Given the description of an element on the screen output the (x, y) to click on. 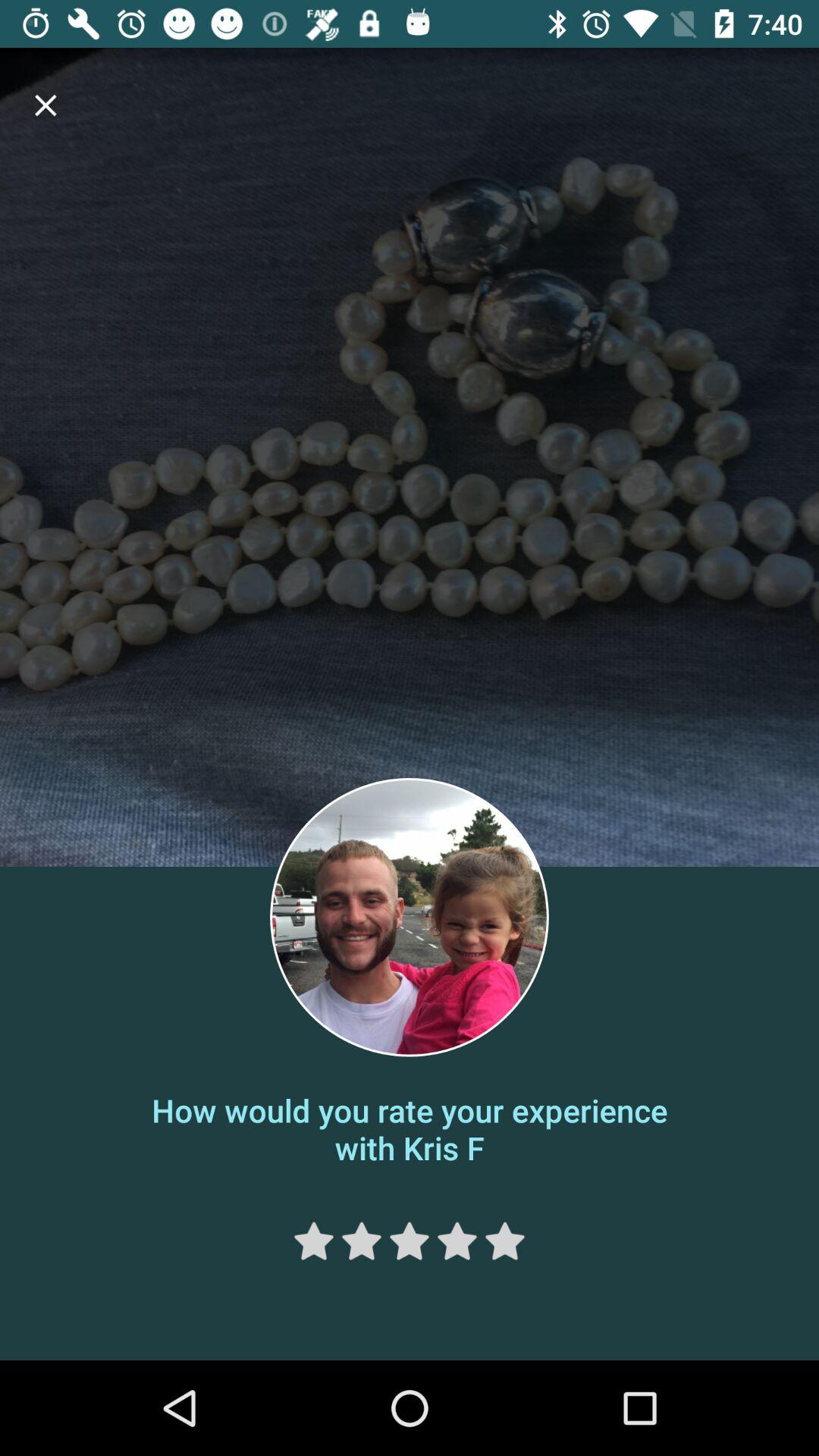
rating 2 stars (361, 1240)
